Given the description of an element on the screen output the (x, y) to click on. 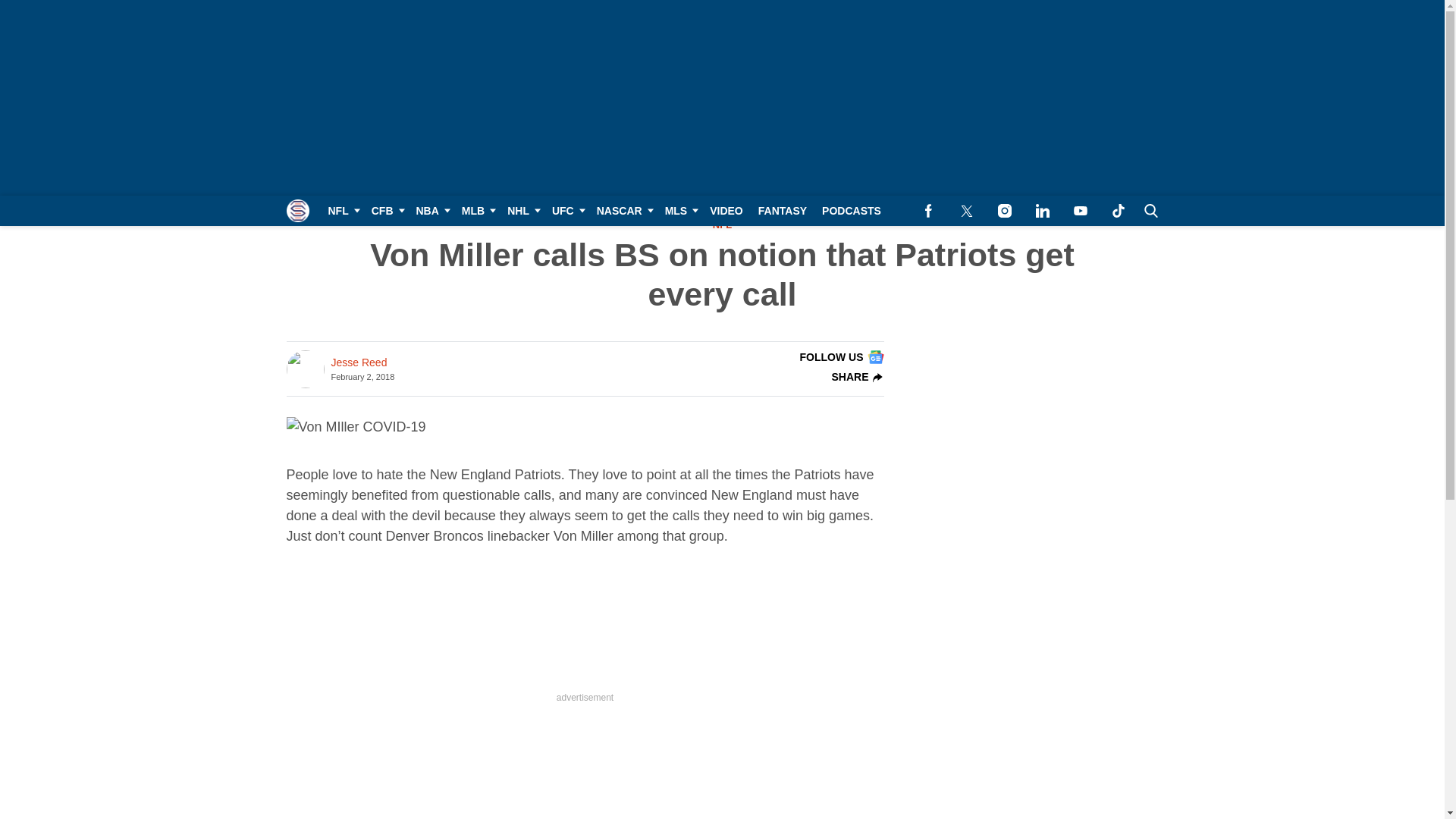
NFL (341, 210)
NBA (429, 210)
NHL (521, 210)
CFB (386, 210)
Connect with us on LinkedIn (1042, 210)
UFC (566, 210)
Follow us on Twitter (966, 210)
Follow us on Facebook (928, 210)
MLB (476, 210)
Follow us on Instagram (1004, 210)
Posts by Jesse Reed (358, 362)
Subscribe to our YouTube channel (1080, 210)
Subscribe to our TikTok channel (1118, 210)
